Given the description of an element on the screen output the (x, y) to click on. 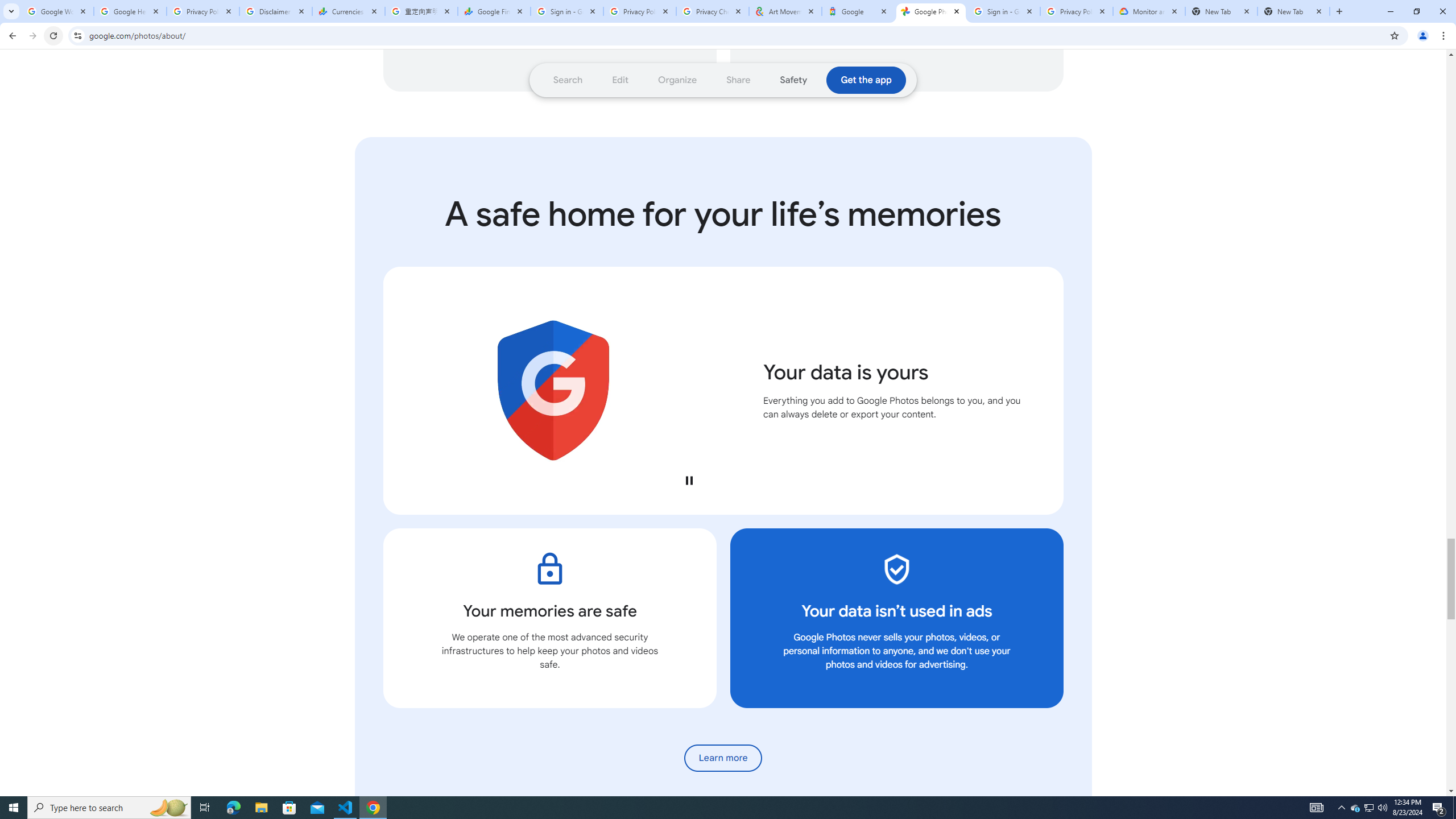
Go to section: Safety (793, 80)
